Given the description of an element on the screen output the (x, y) to click on. 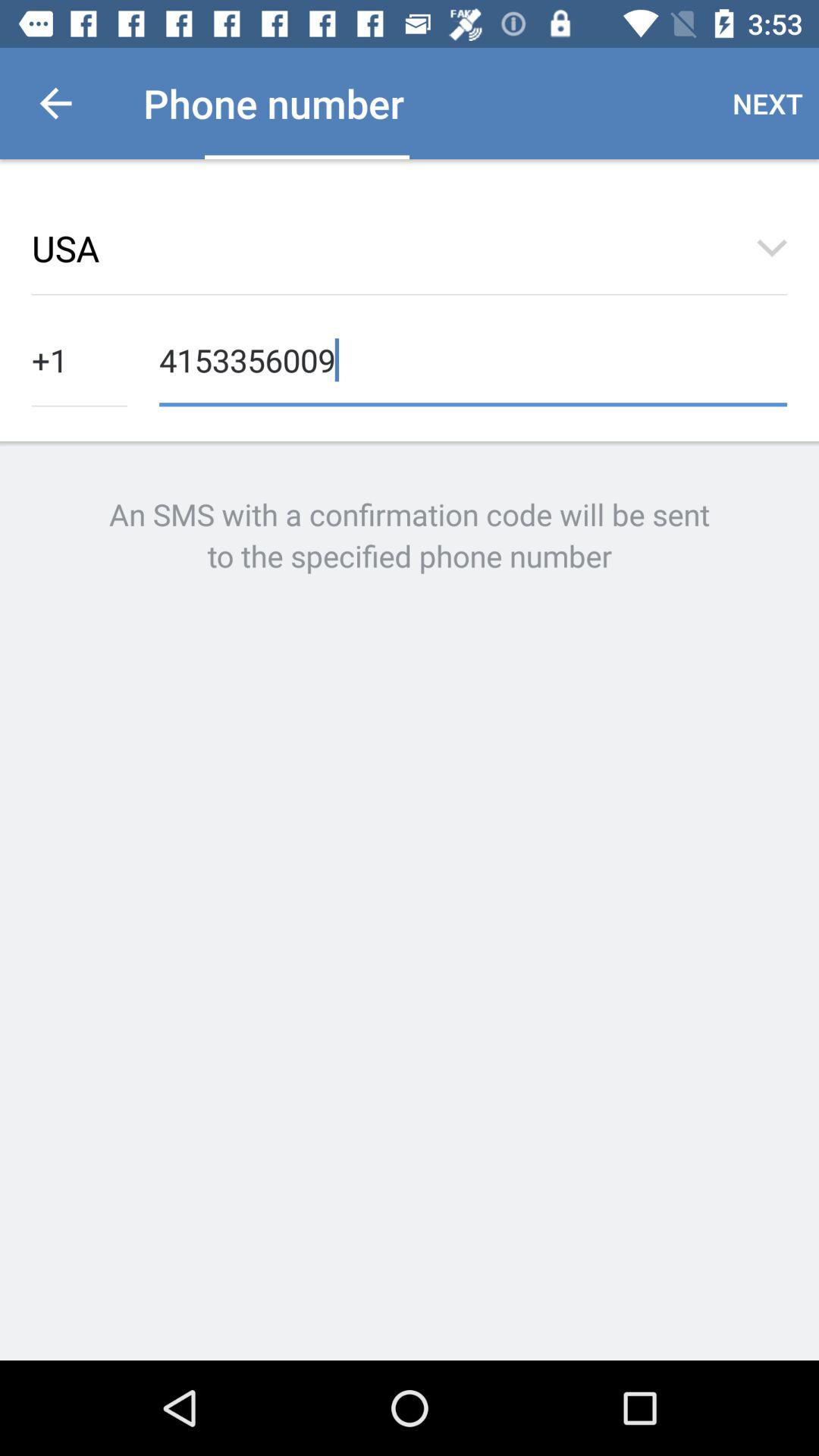
scroll until 4153356009 item (473, 358)
